Given the description of an element on the screen output the (x, y) to click on. 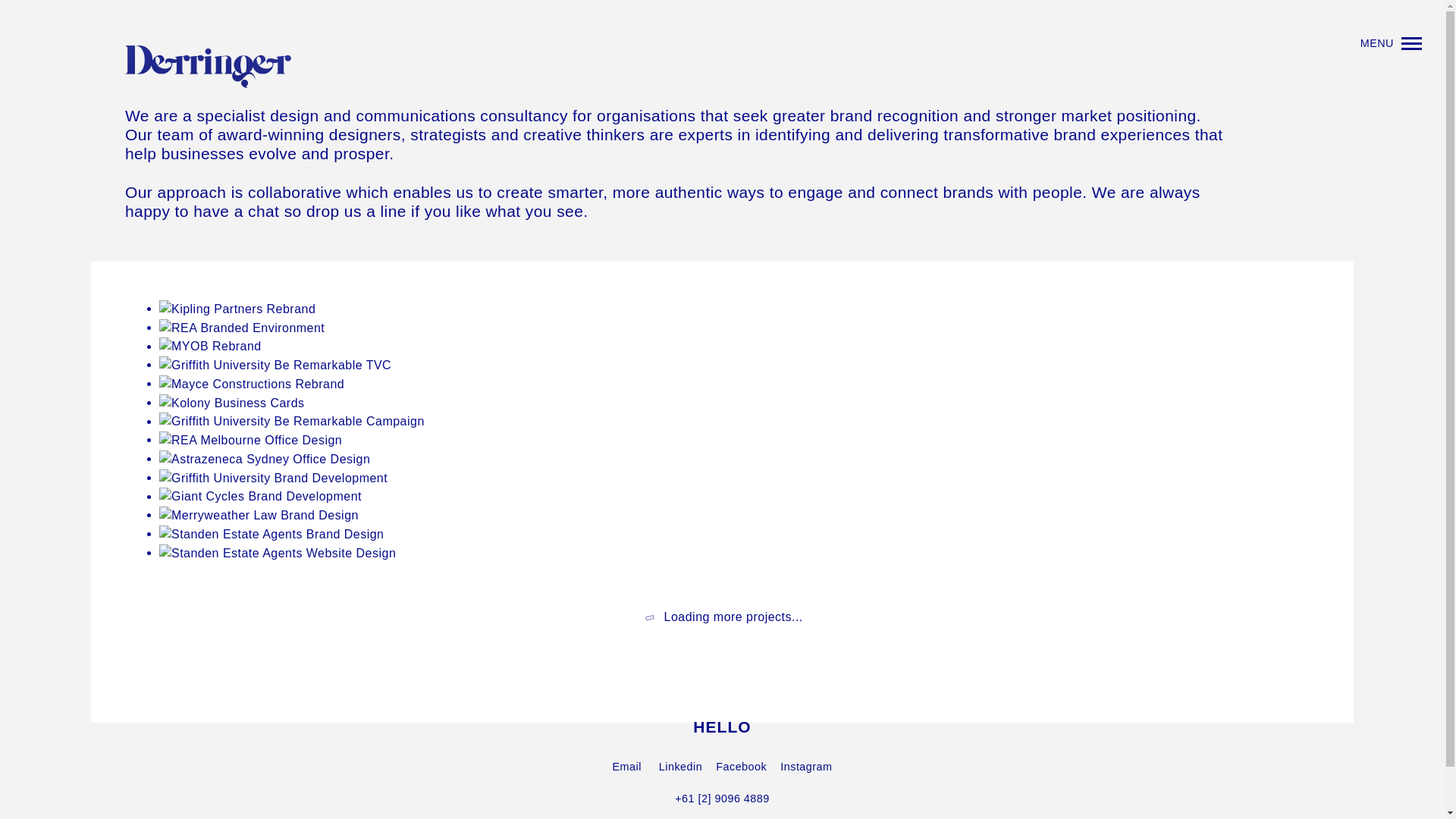
+61 [2] 9096 4889 Element type: text (722, 799)
Facebook Element type: text (741, 767)
Linkedin Element type: text (680, 767)
Email Element type: text (626, 767)
Instagram Element type: text (805, 767)
